Given the description of an element on the screen output the (x, y) to click on. 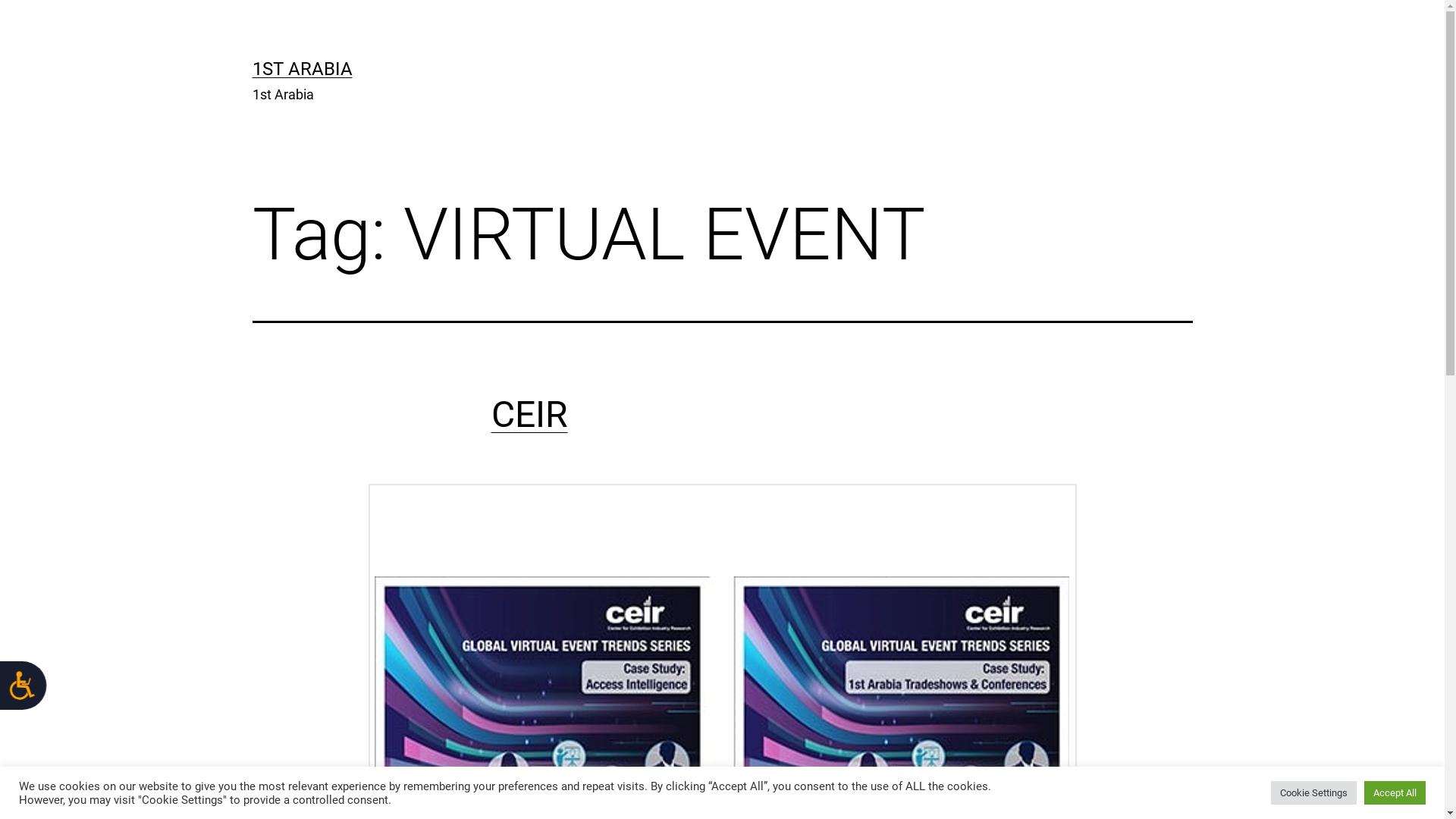
Cookie Settings Element type: text (1313, 792)
1ST ARABIA Element type: text (301, 68)
Accept All Element type: text (1394, 792)
CEIR Element type: text (529, 414)
